Given the description of an element on the screen output the (x, y) to click on. 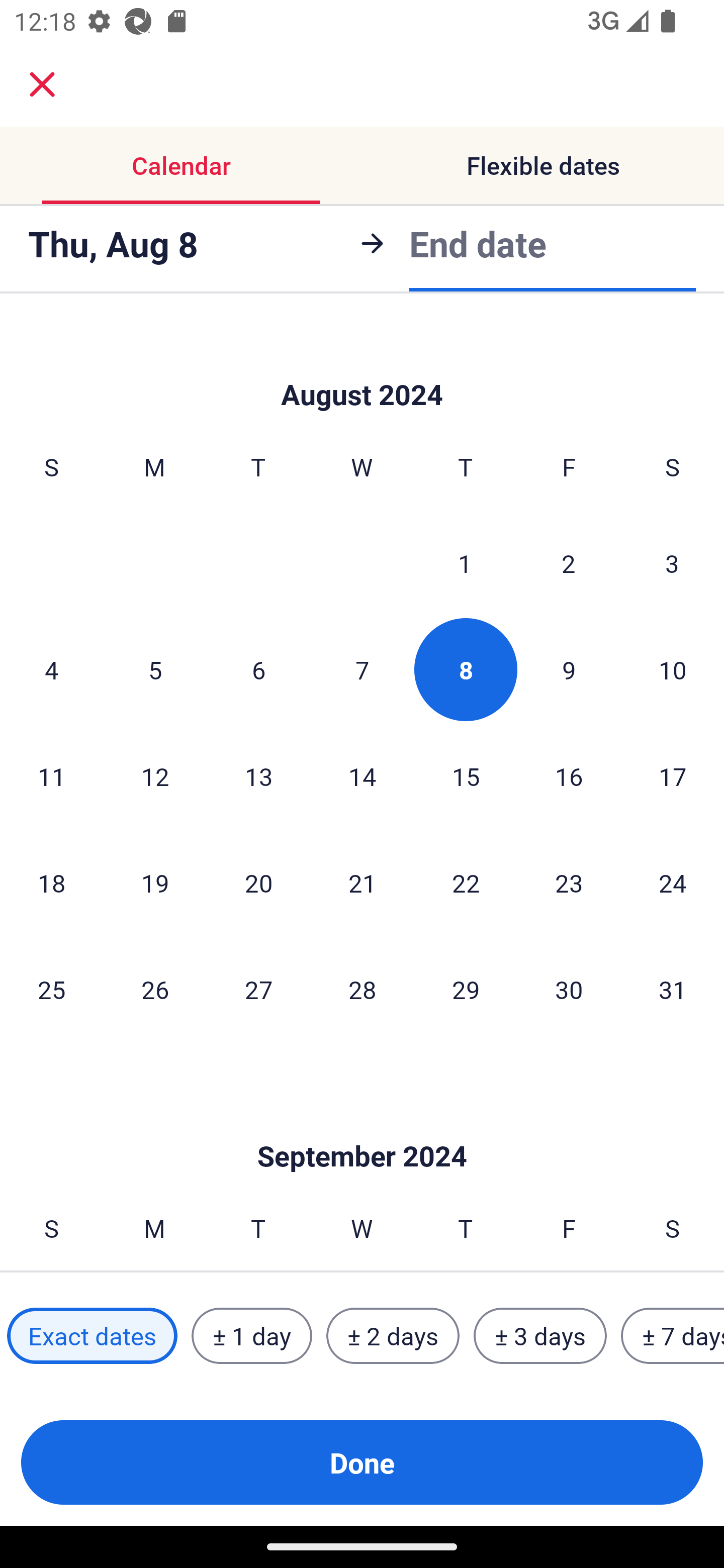
close. (42, 84)
Flexible dates (542, 164)
End date (477, 243)
Skip to Done (362, 365)
1 Thursday, August 1, 2024 (464, 562)
2 Friday, August 2, 2024 (568, 562)
3 Saturday, August 3, 2024 (672, 562)
4 Sunday, August 4, 2024 (51, 669)
5 Monday, August 5, 2024 (155, 669)
6 Tuesday, August 6, 2024 (258, 669)
7 Wednesday, August 7, 2024 (362, 669)
9 Friday, August 9, 2024 (569, 669)
10 Saturday, August 10, 2024 (672, 669)
11 Sunday, August 11, 2024 (51, 775)
12 Monday, August 12, 2024 (155, 775)
13 Tuesday, August 13, 2024 (258, 775)
14 Wednesday, August 14, 2024 (362, 775)
15 Thursday, August 15, 2024 (465, 775)
16 Friday, August 16, 2024 (569, 775)
17 Saturday, August 17, 2024 (672, 775)
18 Sunday, August 18, 2024 (51, 882)
19 Monday, August 19, 2024 (155, 882)
20 Tuesday, August 20, 2024 (258, 882)
21 Wednesday, August 21, 2024 (362, 882)
22 Thursday, August 22, 2024 (465, 882)
23 Friday, August 23, 2024 (569, 882)
24 Saturday, August 24, 2024 (672, 882)
25 Sunday, August 25, 2024 (51, 989)
26 Monday, August 26, 2024 (155, 989)
27 Tuesday, August 27, 2024 (258, 989)
28 Wednesday, August 28, 2024 (362, 989)
29 Thursday, August 29, 2024 (465, 989)
30 Friday, August 30, 2024 (569, 989)
31 Saturday, August 31, 2024 (672, 989)
Skip to Done (362, 1125)
Exact dates (92, 1335)
± 1 day (251, 1335)
± 2 days (392, 1335)
± 3 days (539, 1335)
± 7 days (672, 1335)
Done (361, 1462)
